Given the description of an element on the screen output the (x, y) to click on. 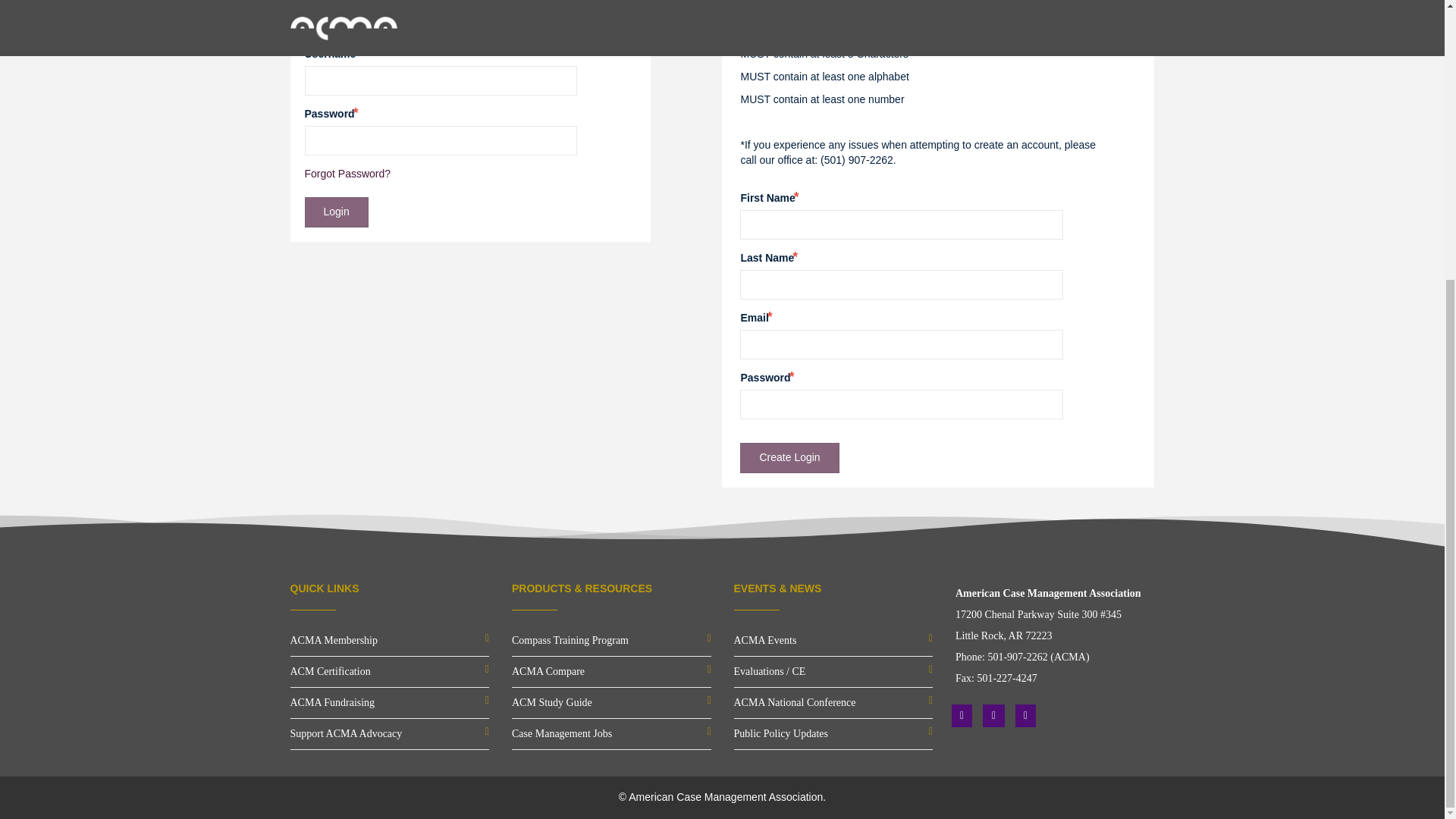
Support ACMA Advocacy (345, 733)
ACMA Events (764, 640)
Create Login (788, 458)
ACM Study Guide (552, 702)
ACMA Fundraising (331, 702)
Public Policy Updates (780, 733)
American Case Management Association (725, 797)
ACMA Membership (333, 640)
Case Management Jobs (561, 733)
Forgot Password? (347, 173)
